Given the description of an element on the screen output the (x, y) to click on. 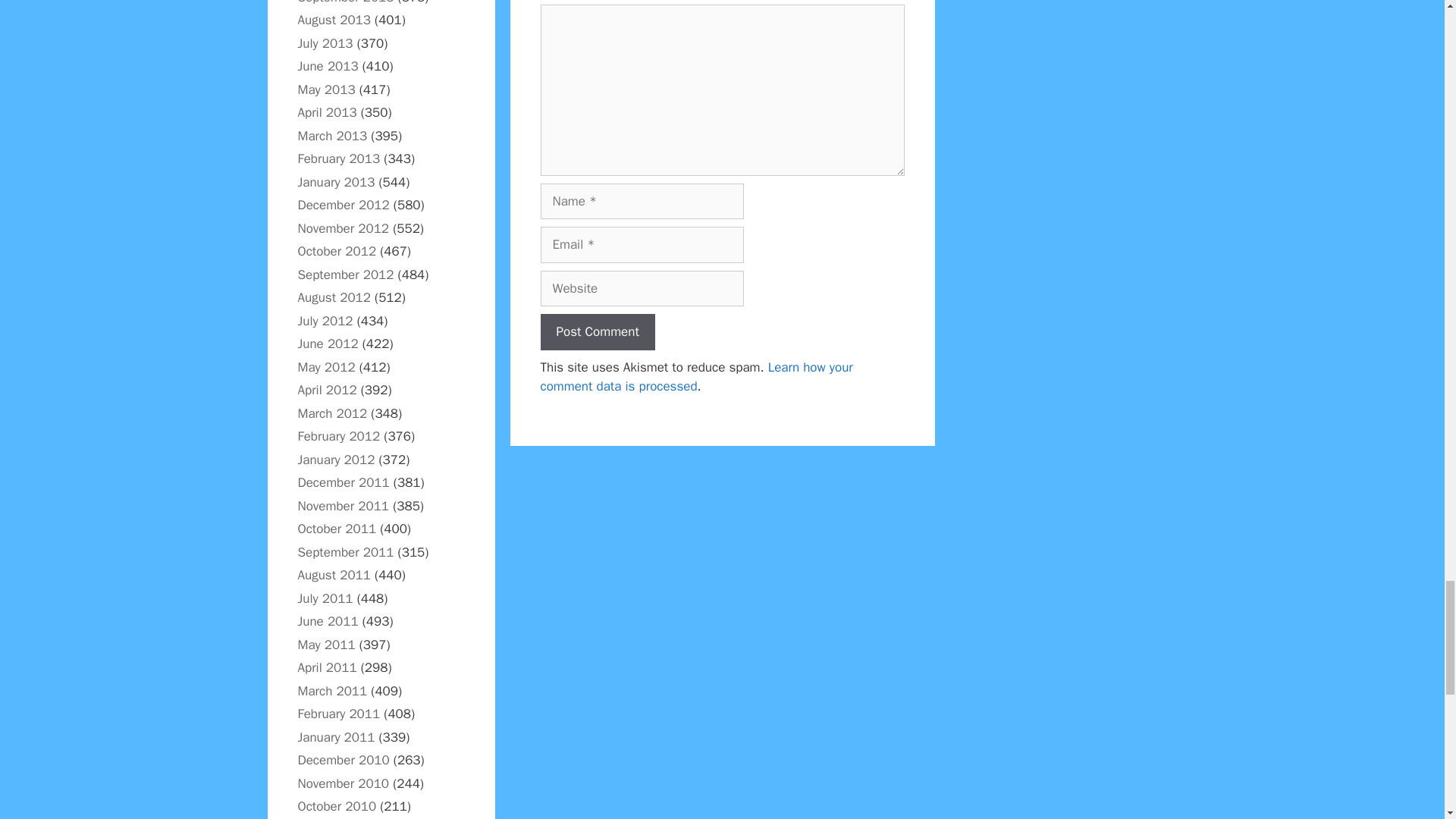
Learn how your comment data is processed (695, 376)
Post Comment (596, 331)
Post Comment (596, 331)
